Given the description of an element on the screen output the (x, y) to click on. 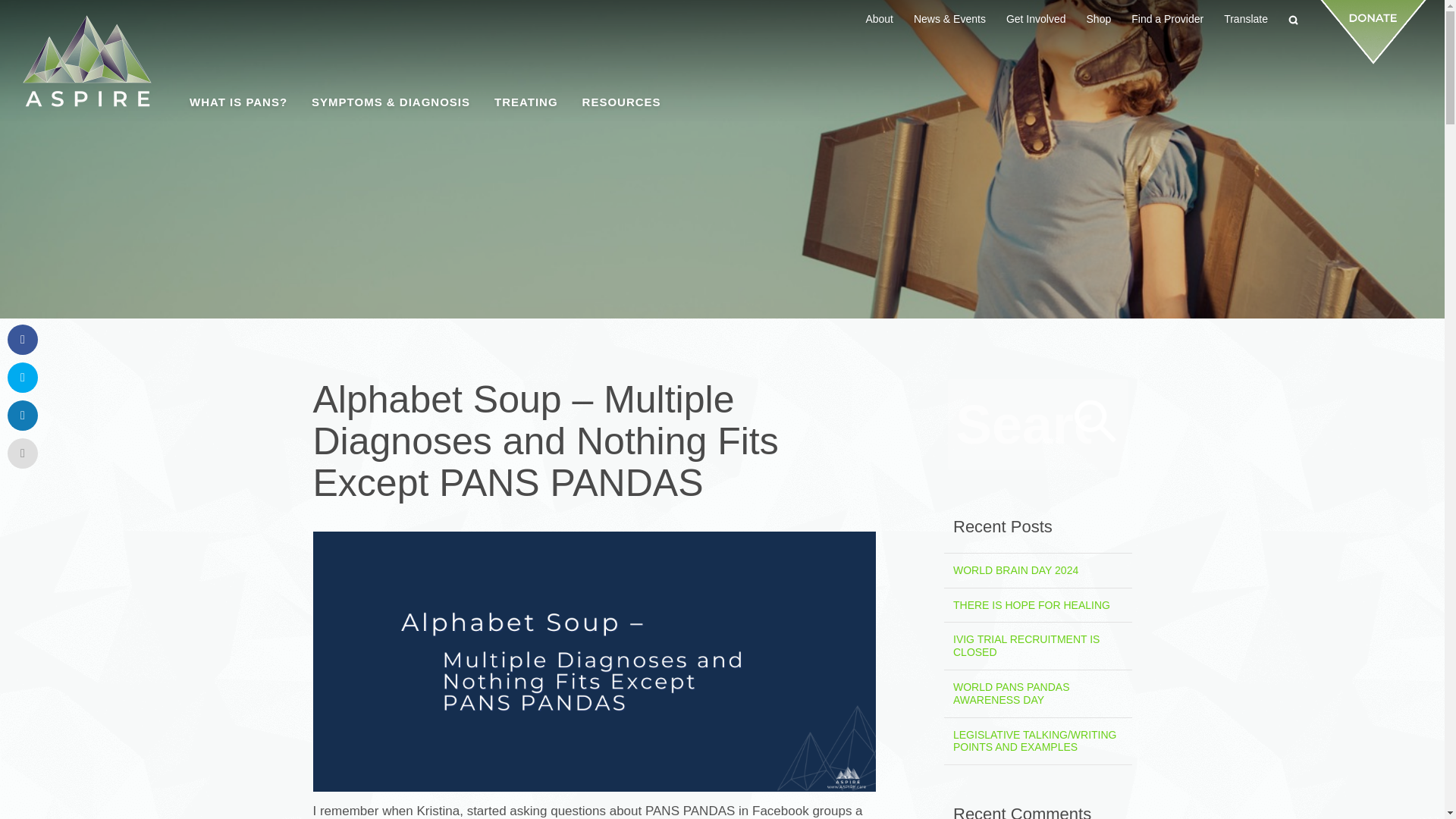
Aspire (87, 61)
About (879, 18)
Get Involved (1036, 18)
Translate (1245, 18)
Shop (1099, 18)
Find a Provider (1167, 18)
